Given the description of an element on the screen output the (x, y) to click on. 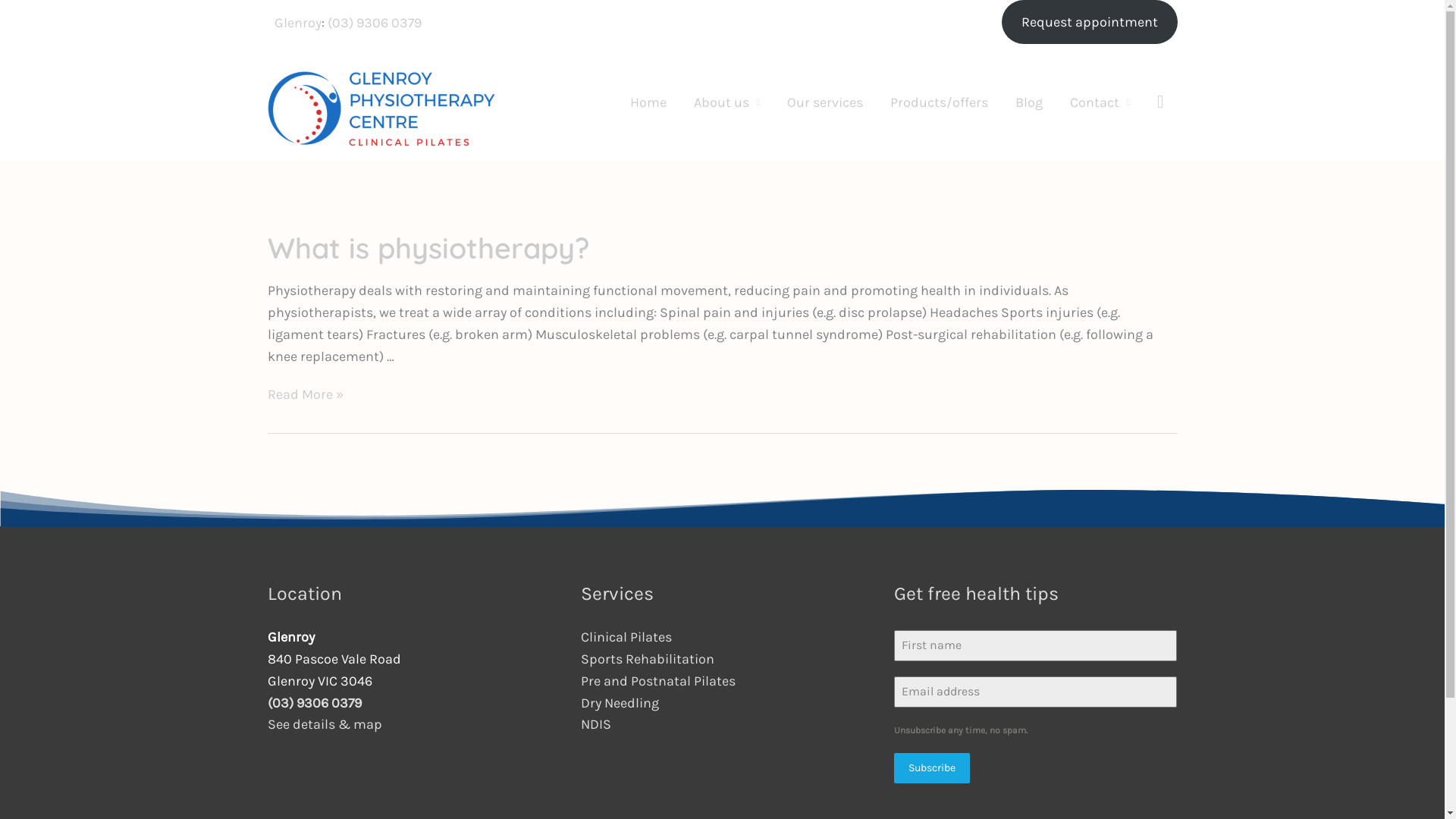
What is physiotherapy? Element type: text (427, 247)
NDIS Element type: text (595, 723)
Clinical Pilates Element type: text (625, 636)
(03) 9306 0379 Element type: text (313, 702)
See details & map Element type: text (323, 723)
Request appointment Element type: text (1089, 21)
Glenroy Element type: text (297, 22)
Sports Rehabilitation Element type: text (647, 658)
Subscribe Element type: text (931, 768)
Our services Element type: text (824, 101)
Products/offers Element type: text (938, 101)
Blog Element type: text (1028, 101)
Home Element type: text (648, 101)
Search Element type: text (1160, 101)
Contact Element type: text (1099, 101)
Pre and Postnatal Pilates Element type: text (657, 680)
(03) 9306 0379 Element type: text (374, 22)
Dry Needling Element type: text (619, 702)
About us Element type: text (726, 101)
